Given the description of an element on the screen output the (x, y) to click on. 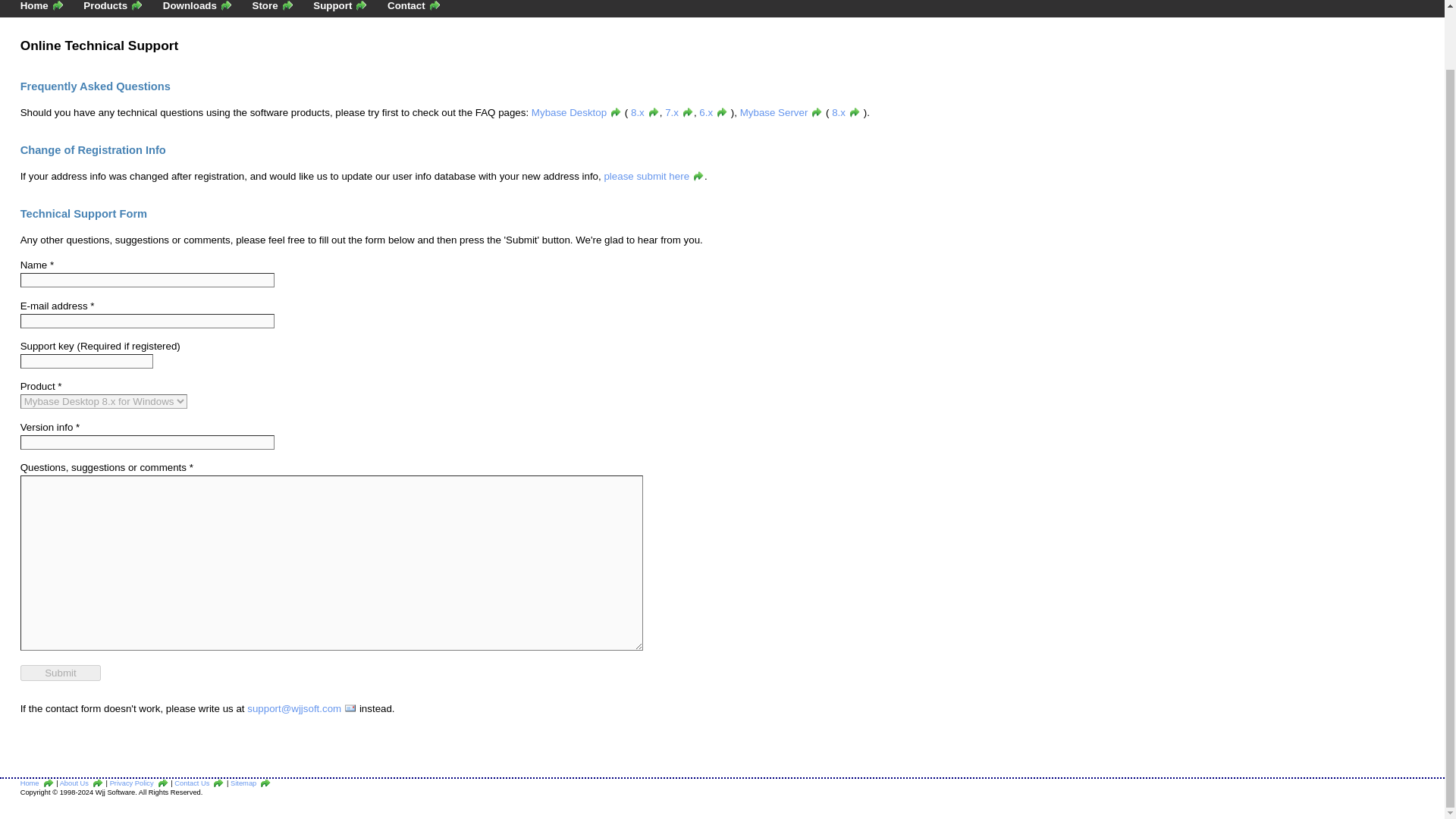
Submit (60, 672)
please submit here (654, 175)
Contact Us (199, 783)
Store (272, 5)
Sitemap (250, 783)
About Us (81, 783)
7.x (679, 112)
Privacy Policy (139, 783)
Support (339, 5)
8.x (644, 112)
